Given the description of an element on the screen output the (x, y) to click on. 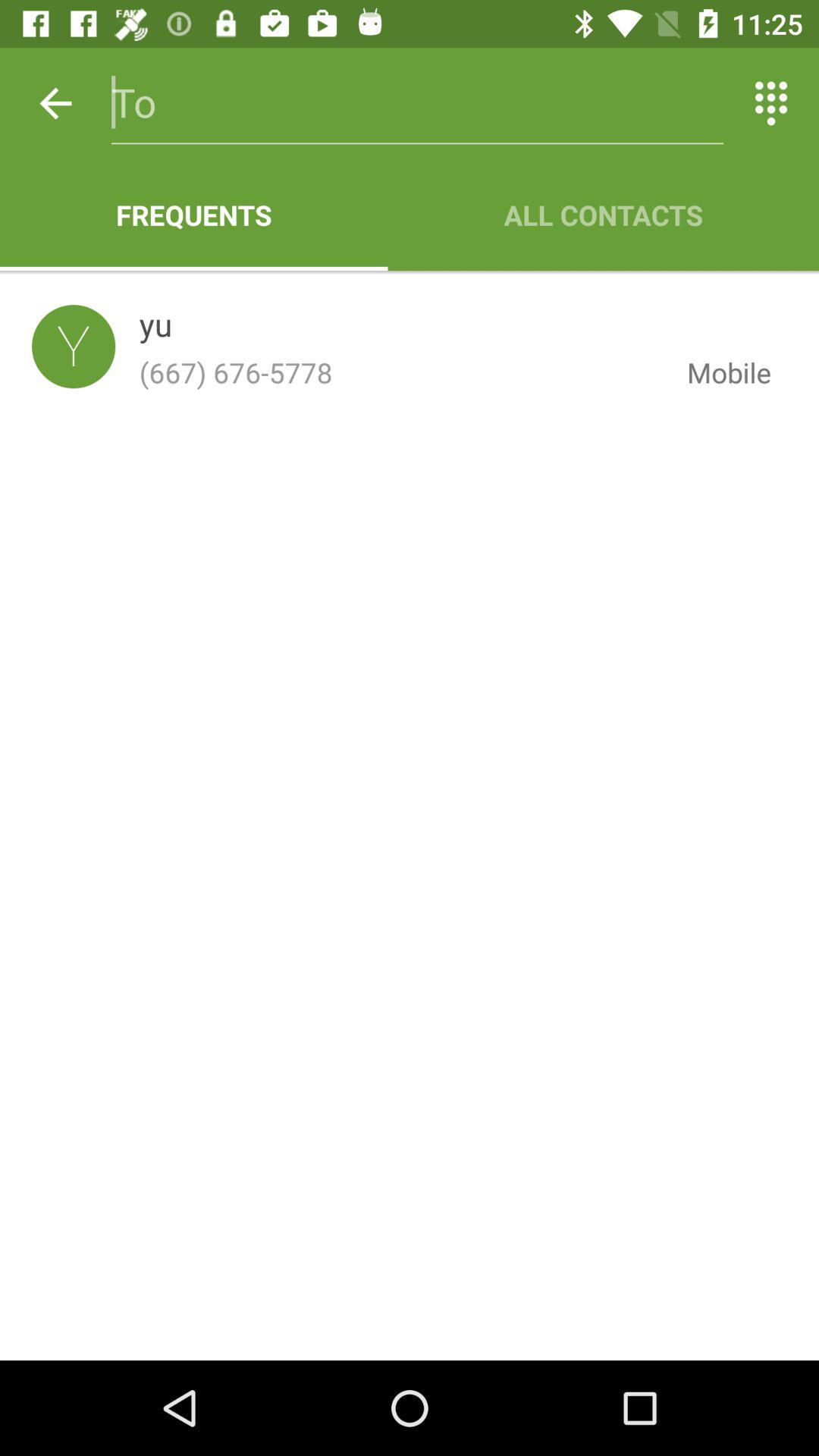
select icon to the right of the (667) 676-5778 item (717, 372)
